Given the description of an element on the screen output the (x, y) to click on. 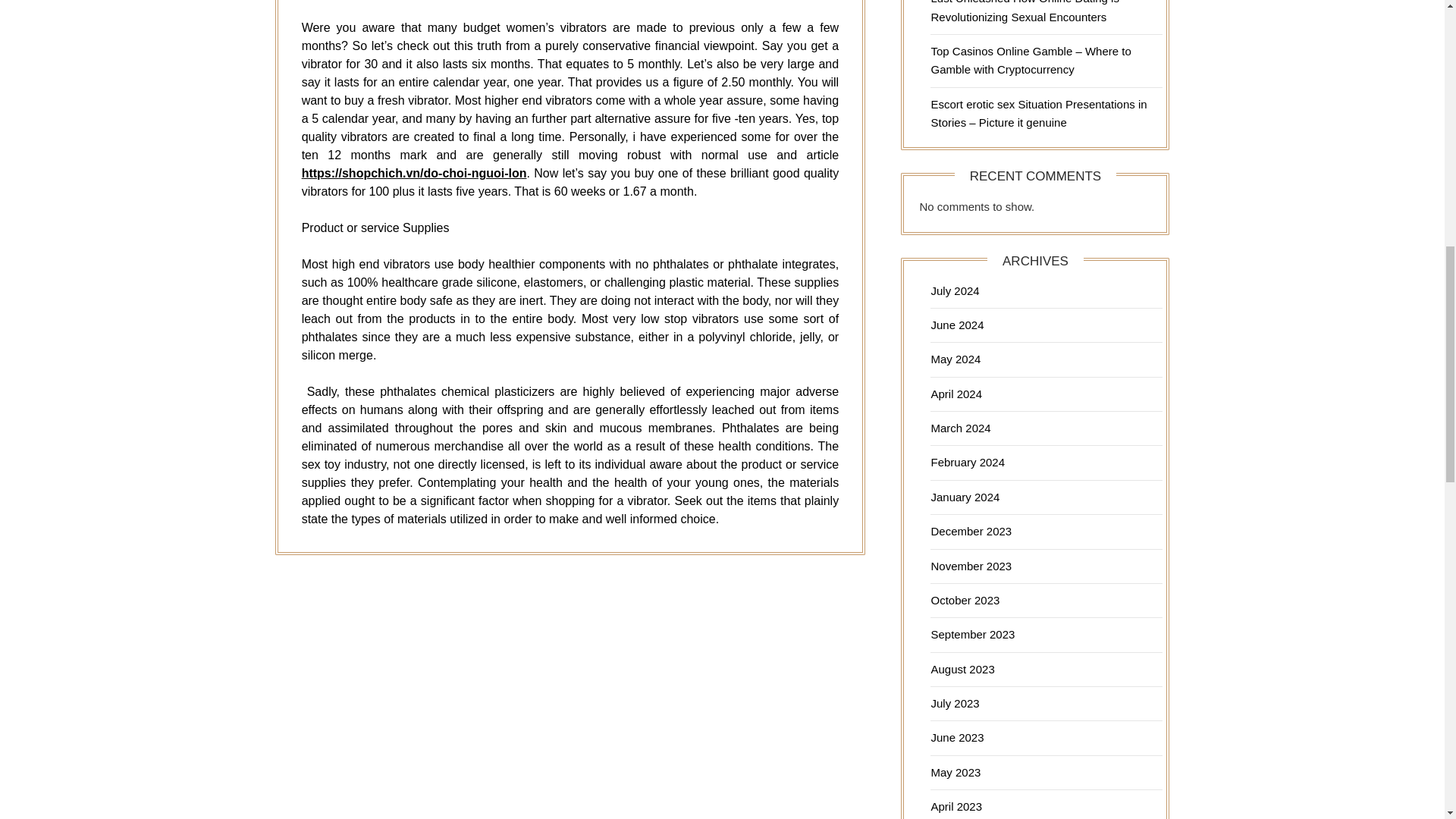
June 2023 (957, 737)
December 2023 (970, 530)
July 2023 (954, 703)
September 2023 (972, 634)
June 2024 (957, 324)
October 2023 (964, 599)
August 2023 (962, 668)
May 2024 (954, 358)
February 2024 (967, 461)
April 2023 (955, 806)
May 2023 (954, 771)
November 2023 (970, 565)
January 2024 (964, 496)
March 2024 (960, 427)
